Given the description of an element on the screen output the (x, y) to click on. 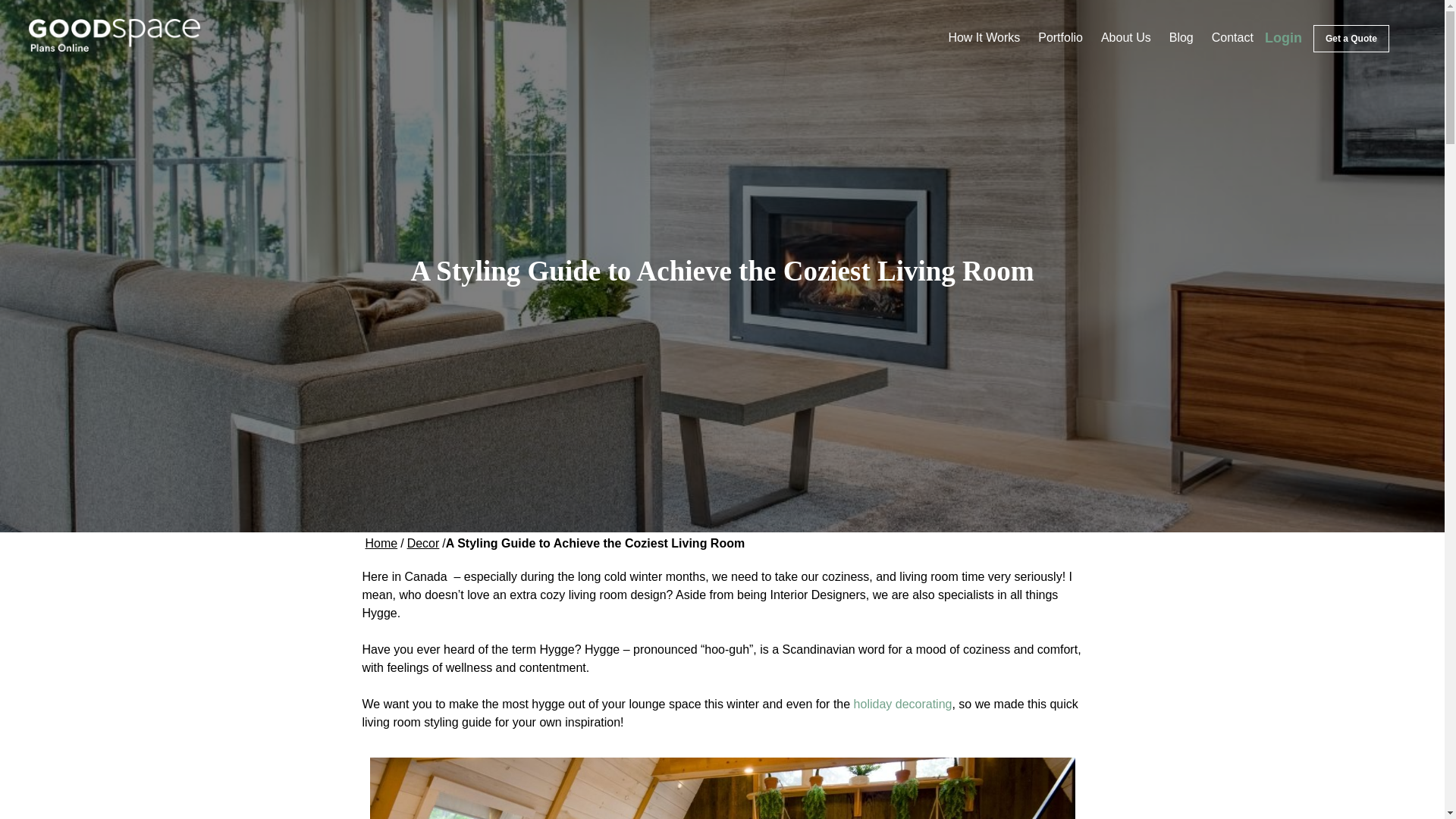
Portfolio (1060, 37)
About Us (1125, 37)
holiday decorating (902, 703)
Homepage (381, 543)
How It Works (983, 37)
Get a Quote (1351, 38)
Contact (1232, 37)
Login (1283, 37)
Blog (1181, 37)
Home (381, 543)
Decor (423, 543)
A Styling Guide to Achieve the Coziest Living Room (594, 543)
